Given the description of an element on the screen output the (x, y) to click on. 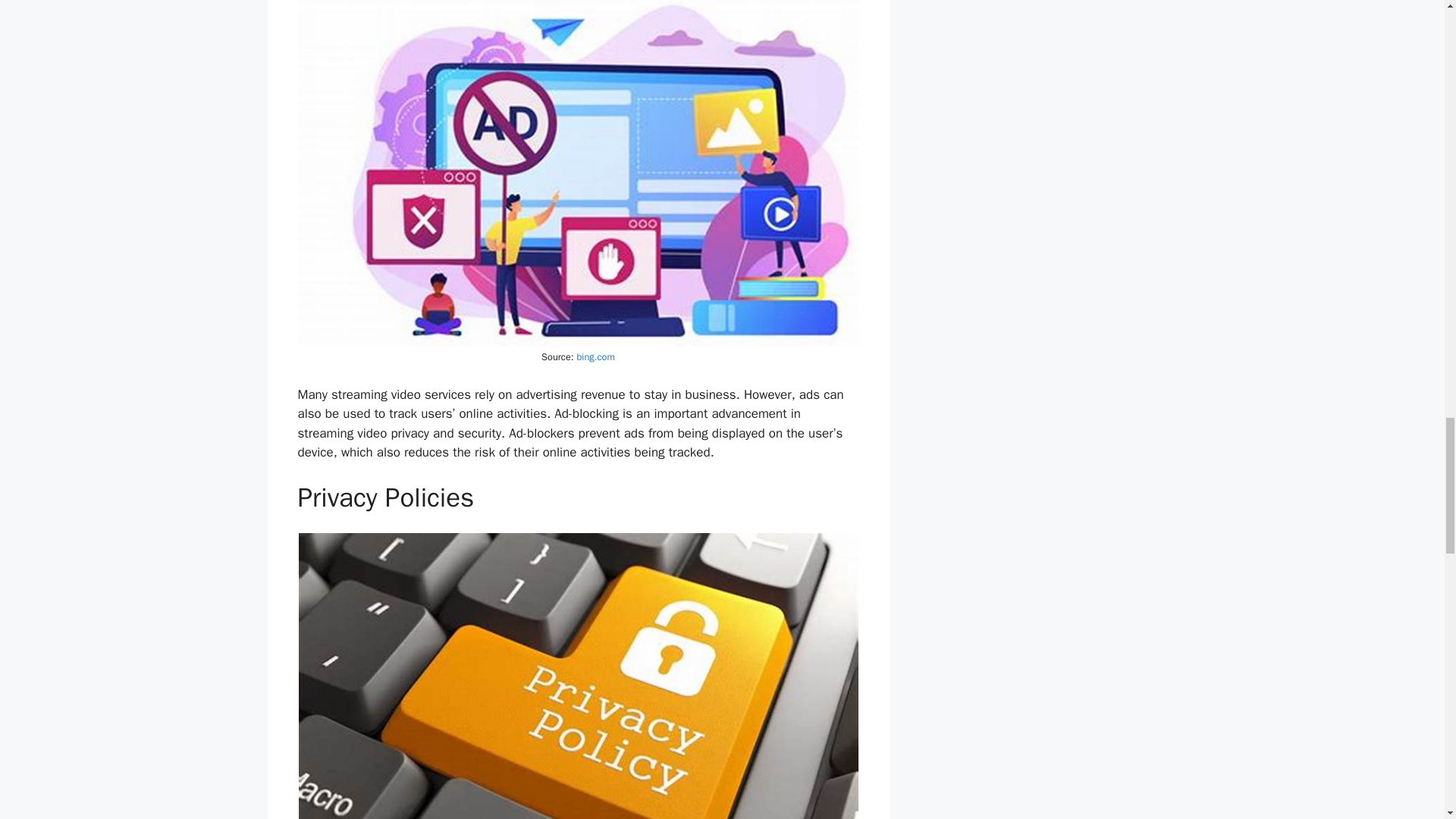
bing.com (595, 357)
